Given the description of an element on the screen output the (x, y) to click on. 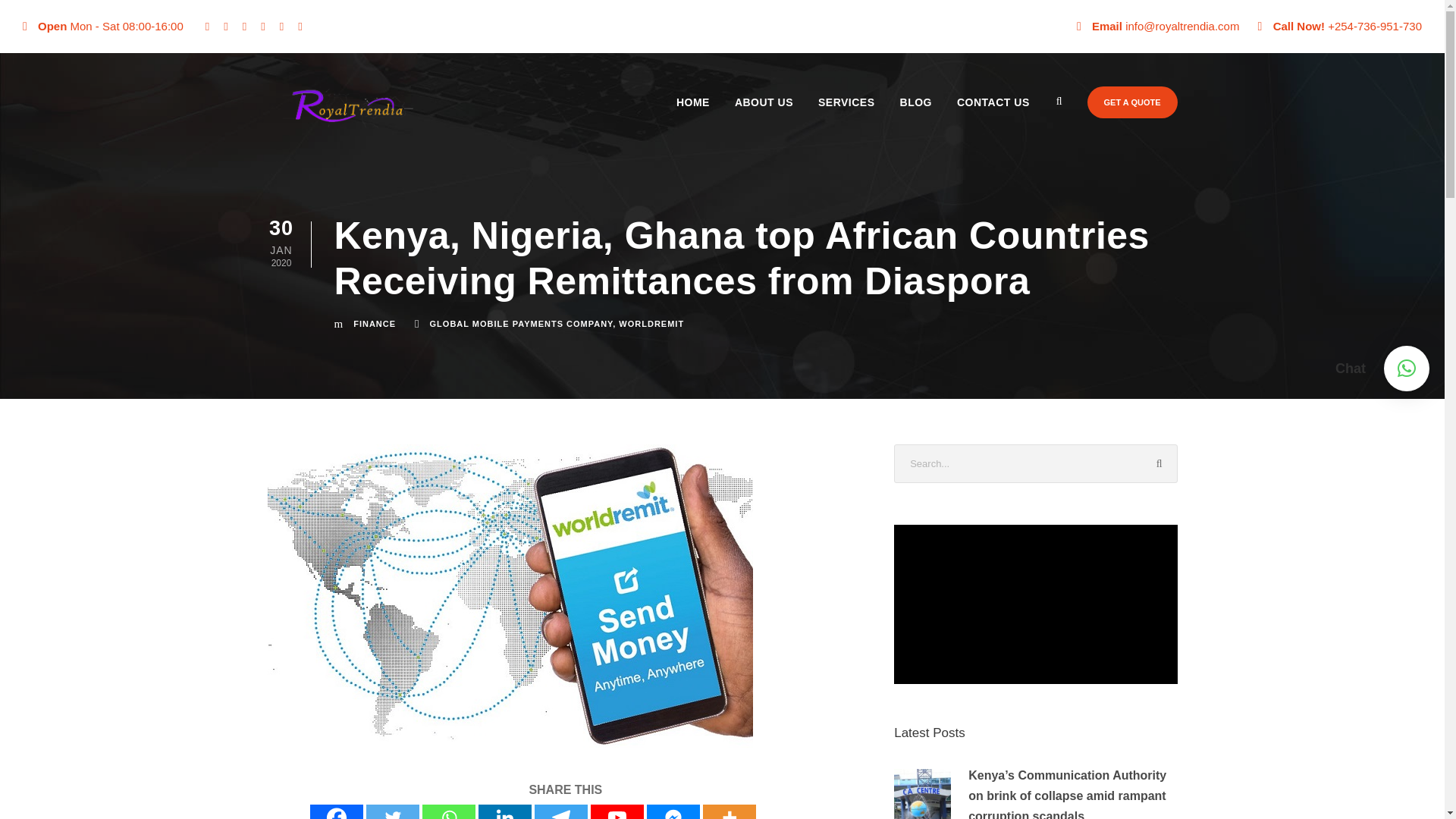
ABOUT US (758, 116)
Facebook (336, 811)
SERVICES (840, 116)
HOME (687, 116)
FINANCE (374, 323)
CONTACT US (986, 116)
GET A QUOTE (1132, 102)
WORLDREMIT (651, 323)
GLOBAL MOBILE PAYMENTS COMPANY (520, 323)
Twitter (392, 811)
RoyalTrendia logo (347, 107)
BLOG (909, 116)
